Given the description of an element on the screen output the (x, y) to click on. 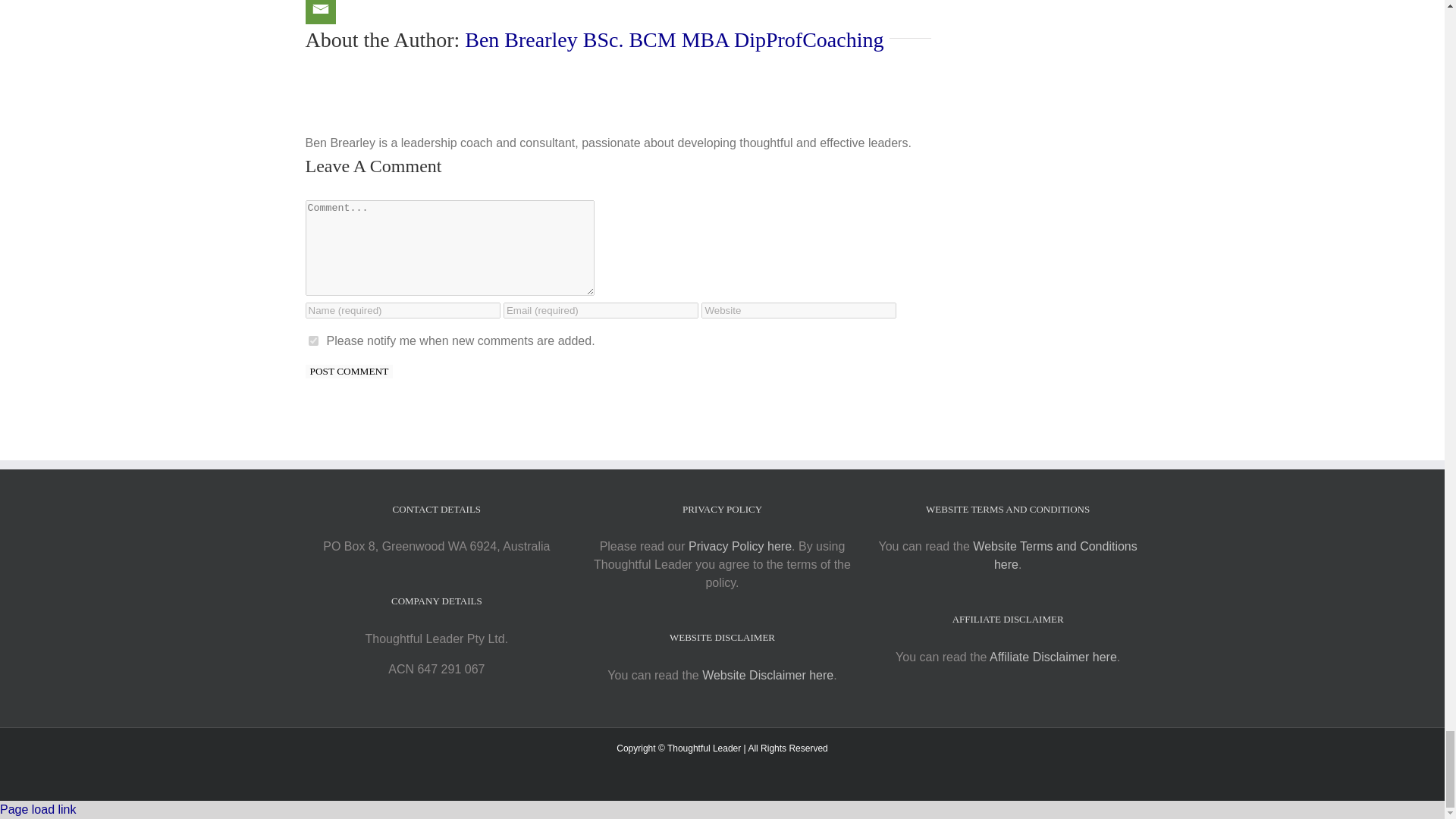
1 (312, 340)
Post Comment (348, 371)
